Given the description of an element on the screen output the (x, y) to click on. 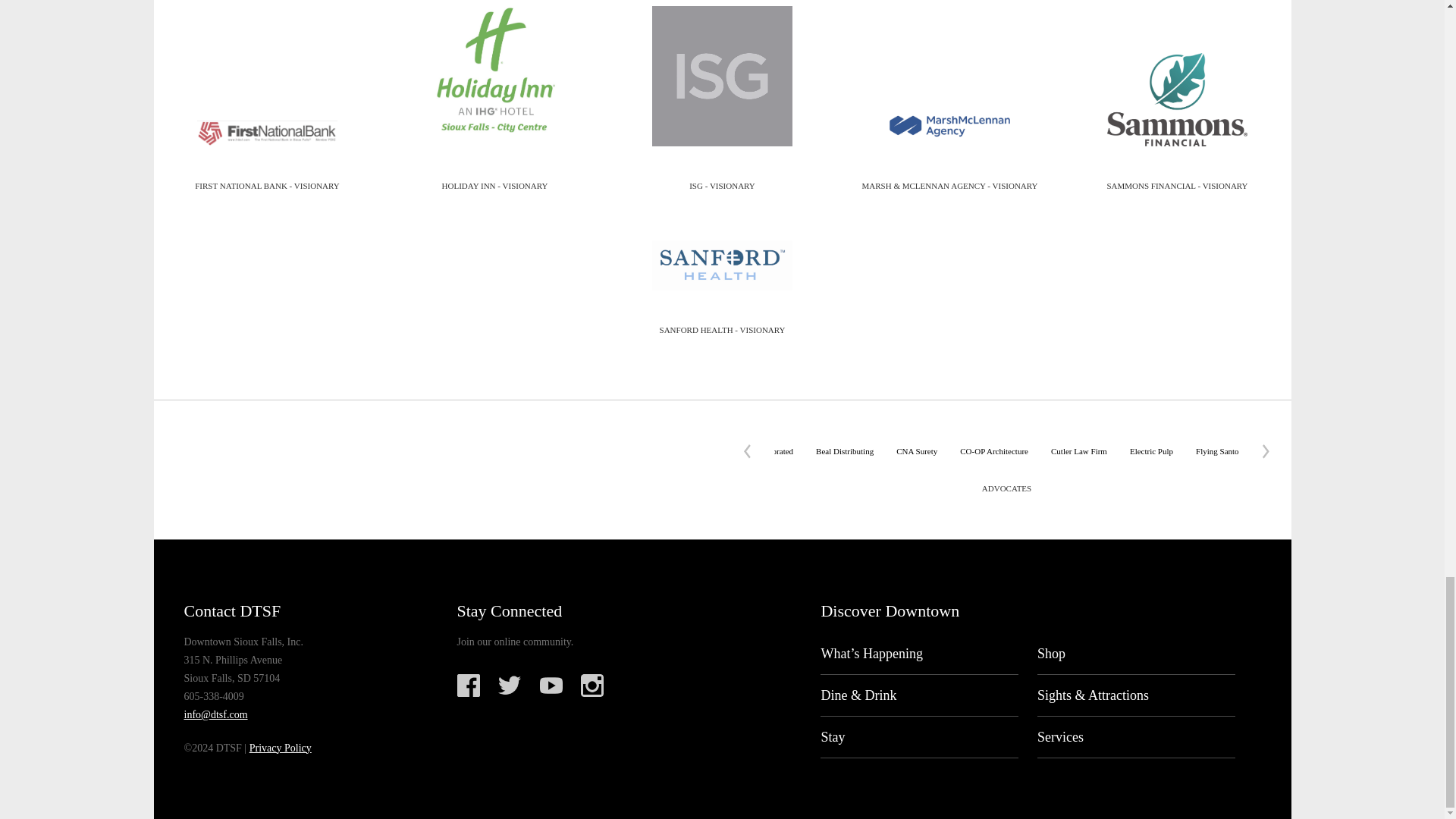
Holiday Inn - VISIONARY (494, 84)
First National Bank - VISIONARY (266, 132)
ISG - VISIONARY (721, 84)
